Given the description of an element on the screen output the (x, y) to click on. 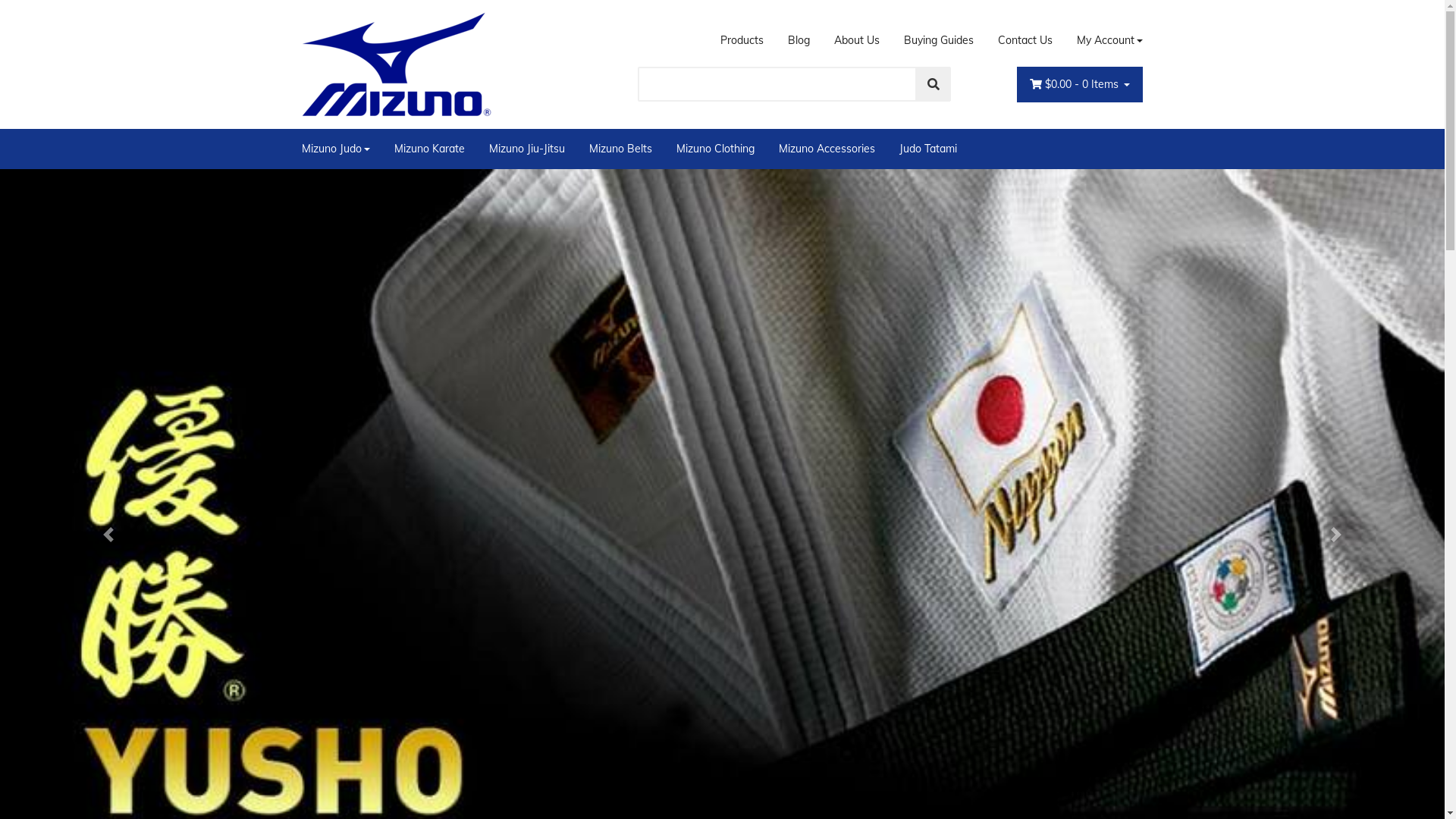
Buying Guides Element type: text (938, 40)
My Account Element type: text (1103, 40)
Mizuno Jiu-Jitsu Element type: text (526, 148)
Mizuno Belts Element type: text (620, 148)
Search Element type: text (933, 83)
$0.00 - 0 Items Element type: text (1079, 84)
About Us Element type: text (856, 40)
Mizuno Accessories Element type: text (826, 148)
Contact Us Element type: text (1024, 40)
Products Element type: text (741, 40)
Mizuno Karate Element type: text (429, 148)
Maximum Sport p/l. Element type: hover (396, 63)
Mizuno Clothing Element type: text (715, 148)
Mizuno Judo Element type: text (341, 148)
Blog Element type: text (798, 40)
Judo Tatami Element type: text (928, 148)
